Given the description of an element on the screen output the (x, y) to click on. 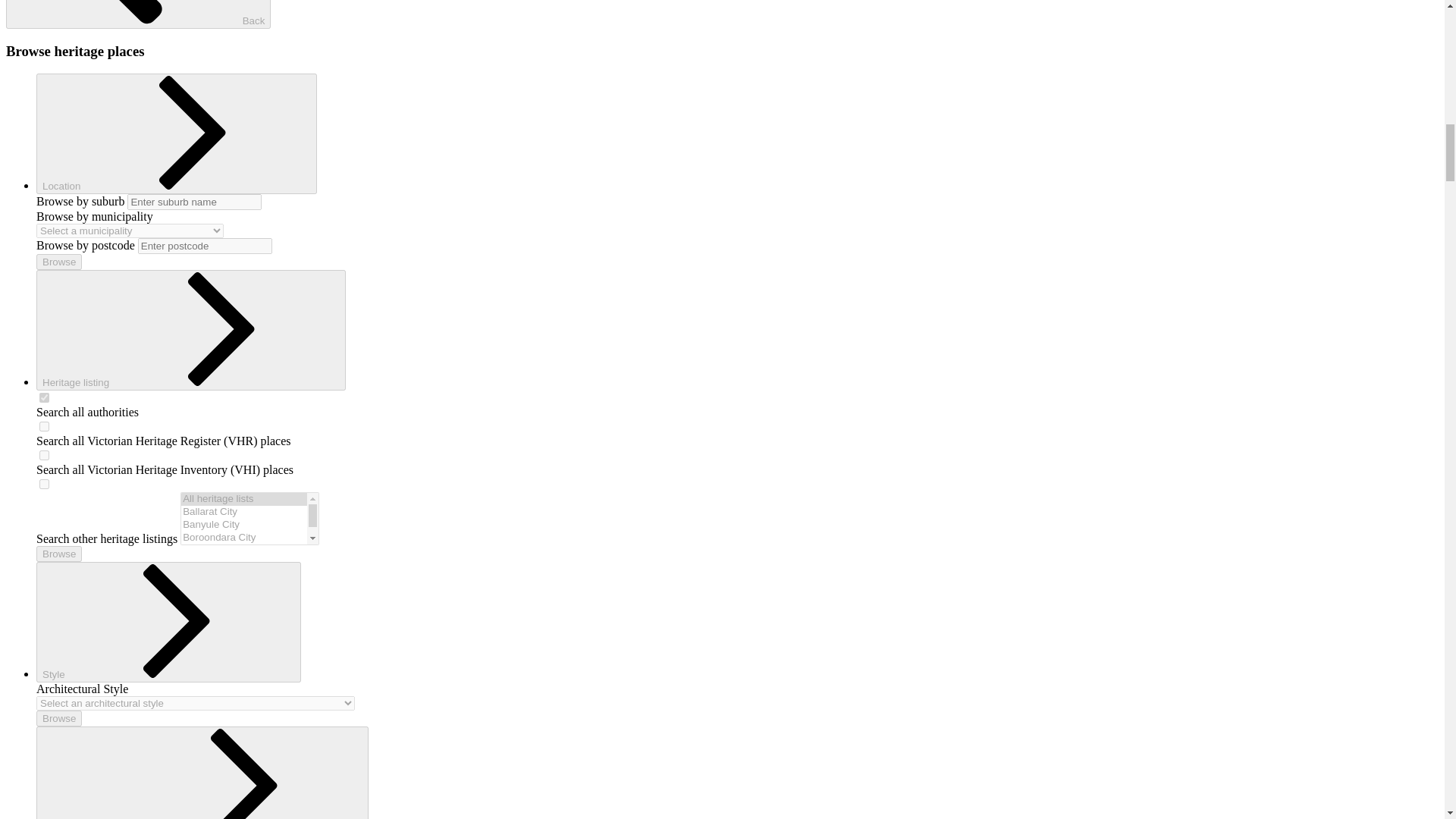
Date of construction (202, 772)
1087 (44, 455)
Location (176, 133)
Browse (58, 261)
Architectural Style (195, 703)
Browse (58, 553)
Heritage listing (191, 330)
Browse by municipality (130, 230)
Browse (58, 718)
1 (44, 397)
